Given the description of an element on the screen output the (x, y) to click on. 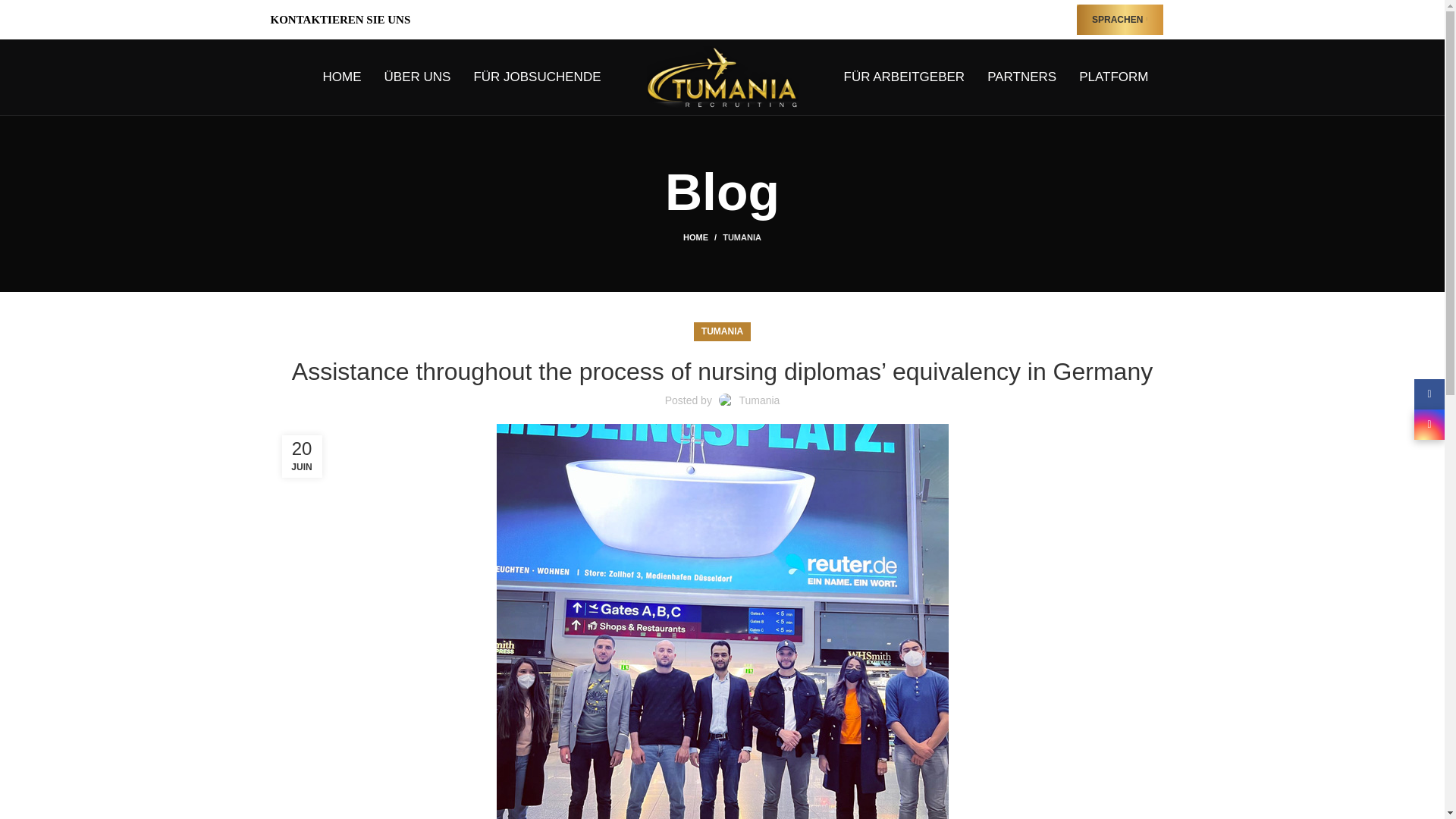
HOME (342, 77)
KONTAKTIEREN SIE UNS (339, 19)
SPRACHEN (1120, 19)
TUMANIA (741, 236)
HOME (702, 236)
PLATFORM (1113, 77)
Tumania (758, 399)
PARTNERS (1022, 77)
TUMANIA (721, 331)
